Given the description of an element on the screen output the (x, y) to click on. 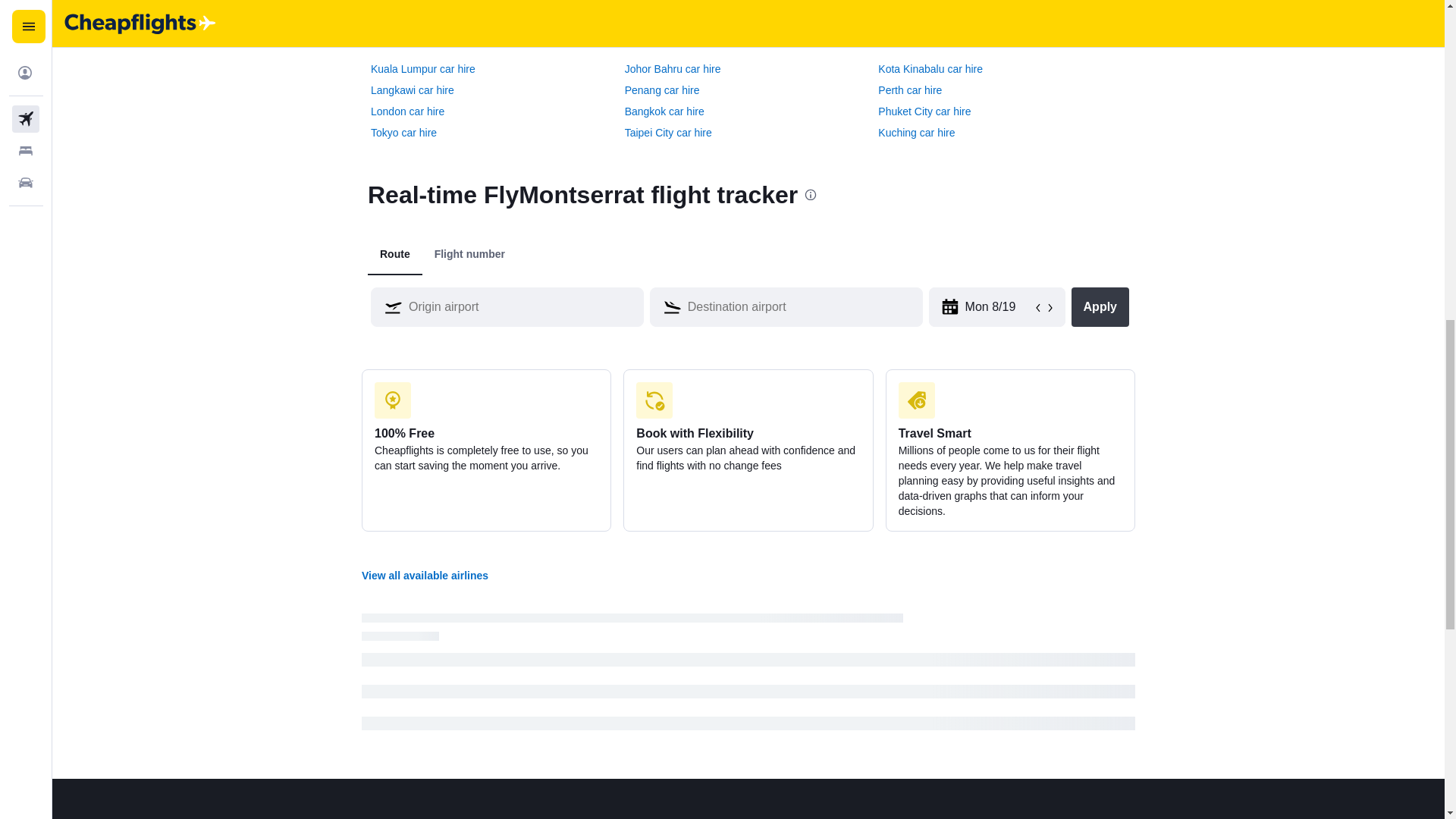
Phuket City car hire (924, 111)
Kota Kinabalu car hire (929, 68)
Kuching car hire (916, 132)
Langkawi car hire (412, 89)
Johor Bahru car hire (672, 68)
Perth car hire (909, 89)
London car hire (407, 111)
Complete your trip (427, 2)
Flight number (469, 254)
Bangkok car hire (664, 111)
